Given the description of an element on the screen output the (x, y) to click on. 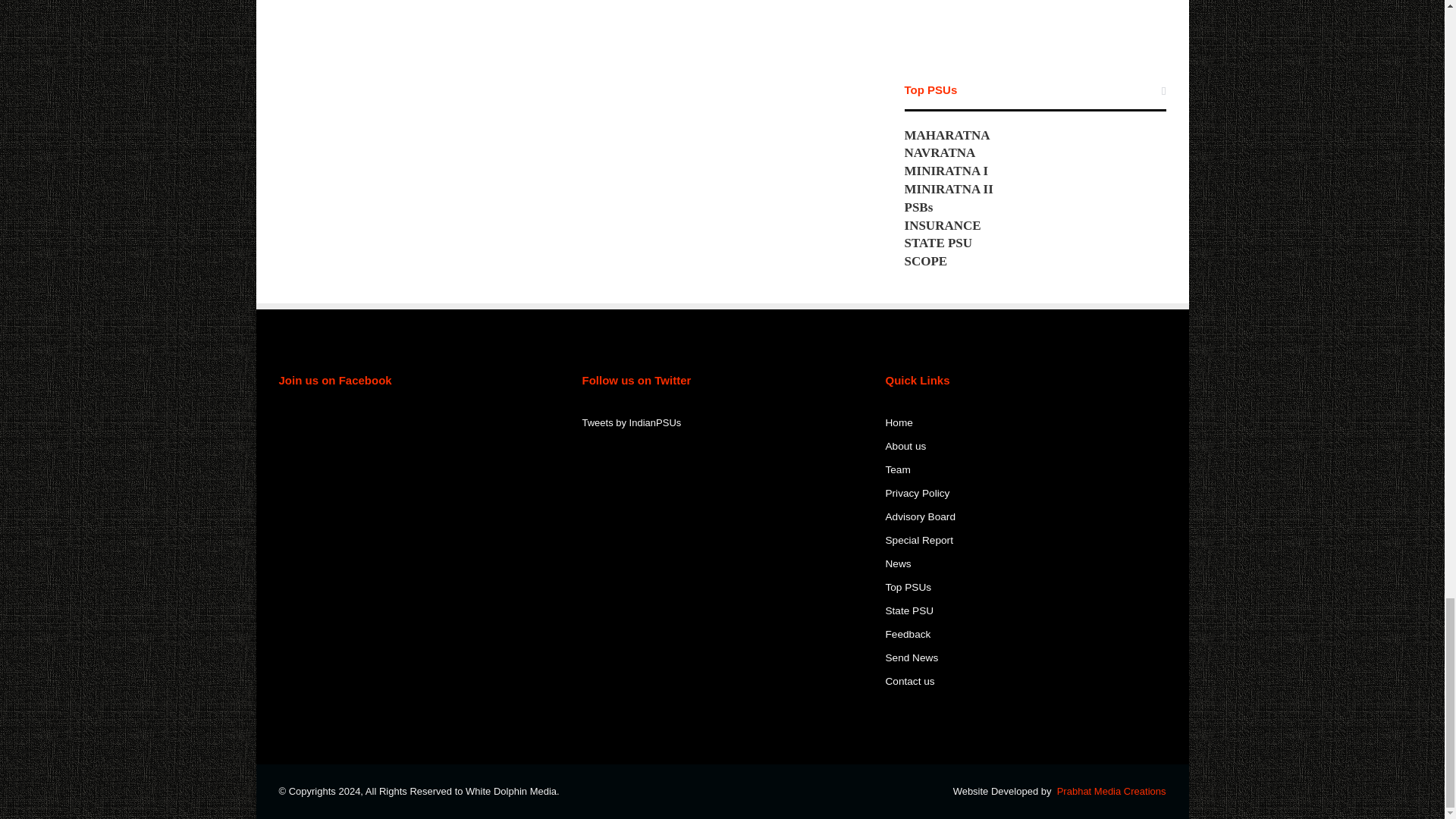
YouTube video player (1035, 21)
